Given the description of an element on the screen output the (x, y) to click on. 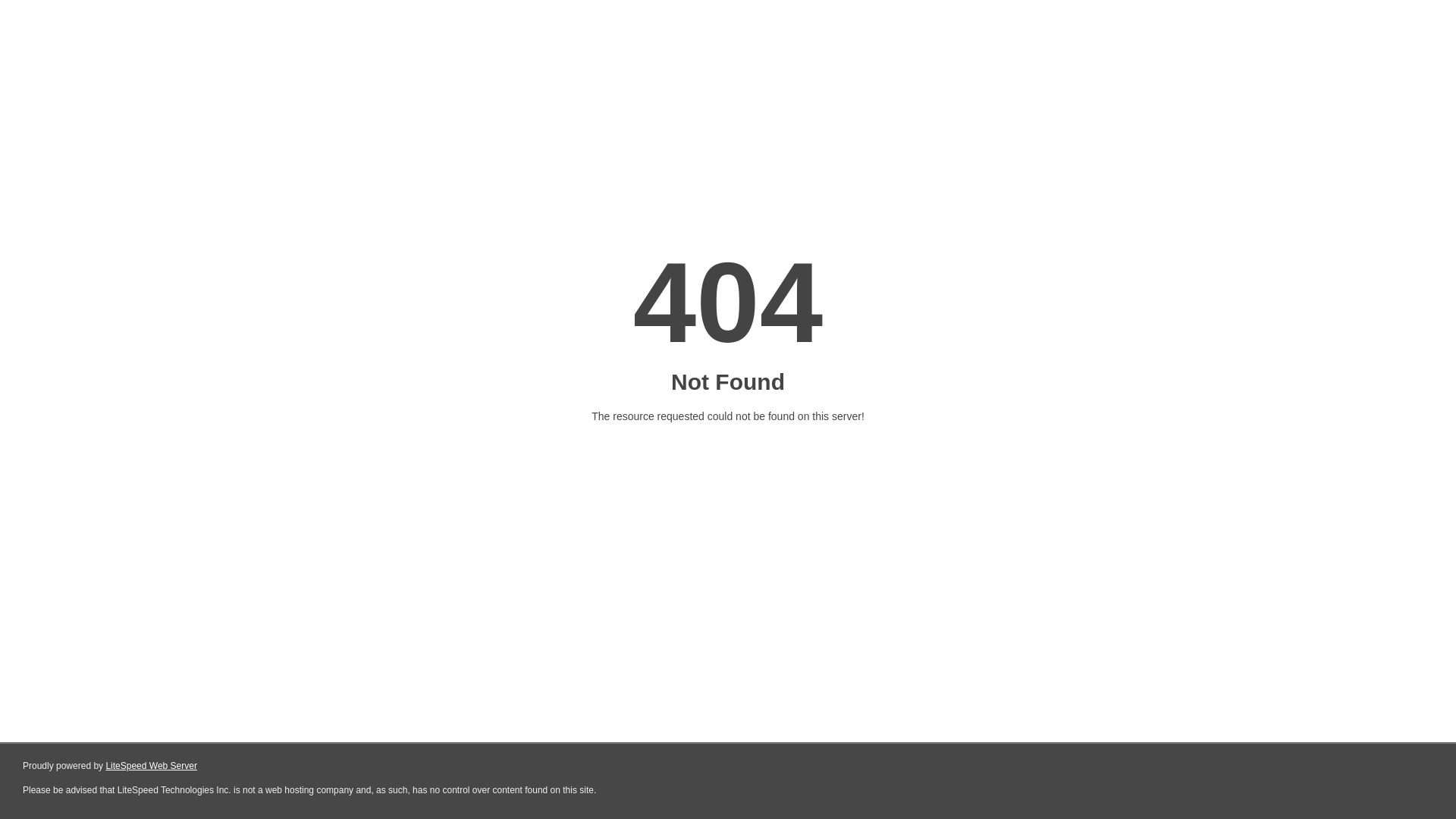
LiteSpeed Web Server Element type: text (151, 765)
